Given the description of an element on the screen output the (x, y) to click on. 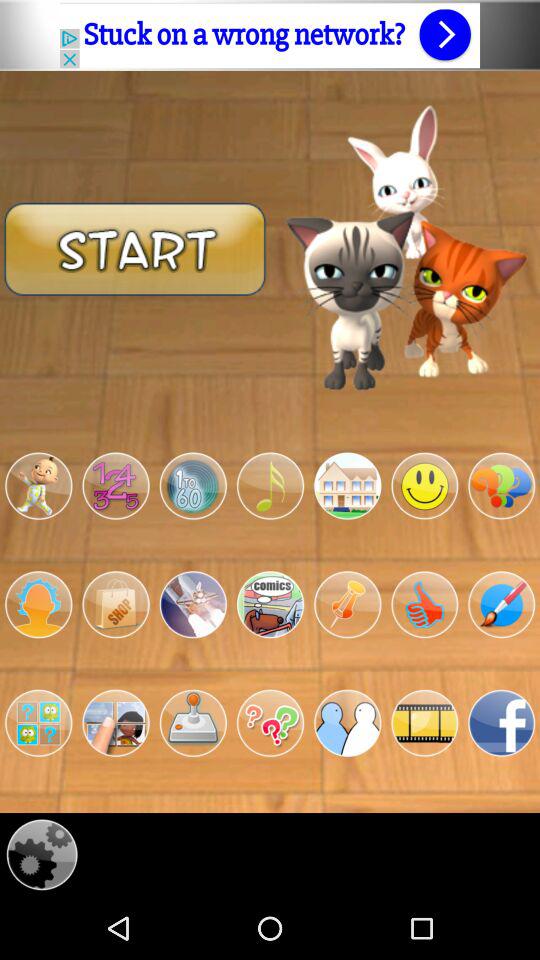
multiplayer (347, 723)
